Given the description of an element on the screen output the (x, y) to click on. 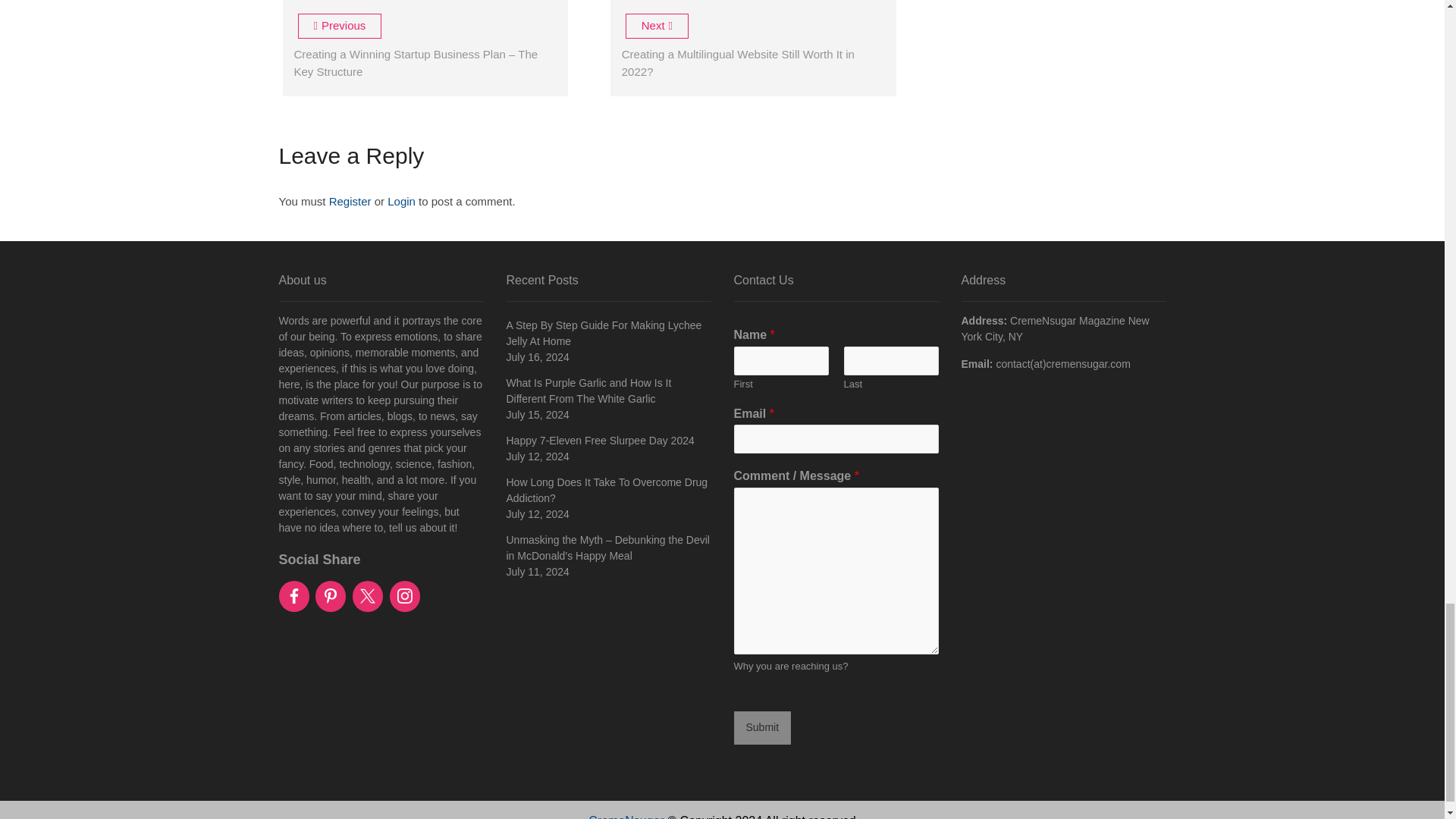
CremeNsugar (625, 816)
